Given the description of an element on the screen output the (x, y) to click on. 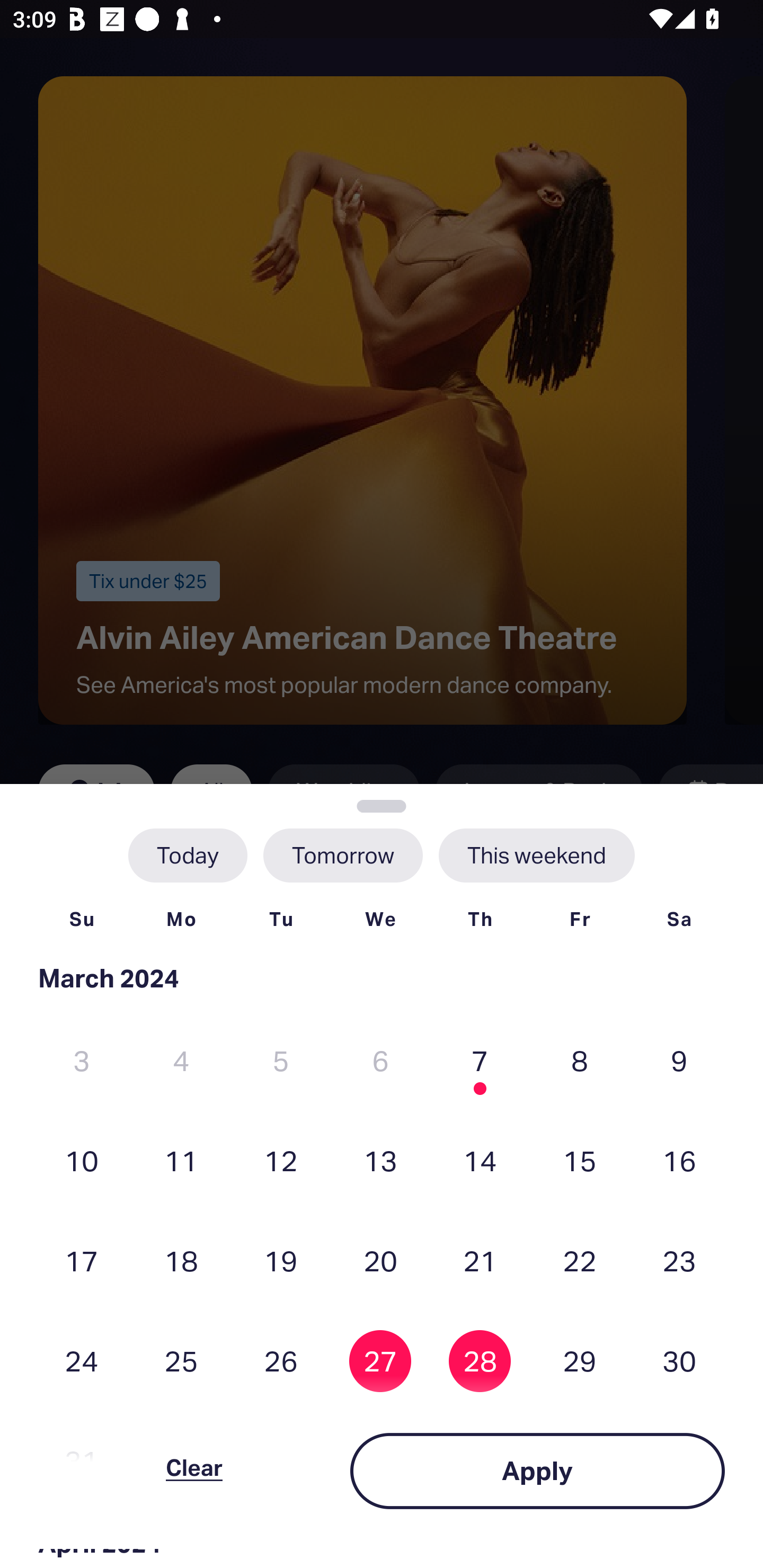
Today (187, 854)
Tomorrow (342, 854)
This weekend (536, 854)
3 (81, 1060)
4 (181, 1060)
5 (280, 1060)
6 (380, 1060)
7 (479, 1060)
8 (579, 1060)
9 (678, 1060)
10 (81, 1160)
11 (181, 1160)
12 (280, 1160)
13 (380, 1160)
14 (479, 1160)
15 (579, 1160)
16 (678, 1160)
17 (81, 1260)
18 (181, 1260)
19 (280, 1260)
20 (380, 1260)
21 (479, 1260)
22 (579, 1260)
23 (678, 1260)
24 (81, 1360)
25 (181, 1360)
26 (280, 1360)
27 (380, 1360)
28 (479, 1360)
29 (579, 1360)
30 (678, 1360)
Clear (194, 1470)
Apply (537, 1470)
